Given the description of an element on the screen output the (x, y) to click on. 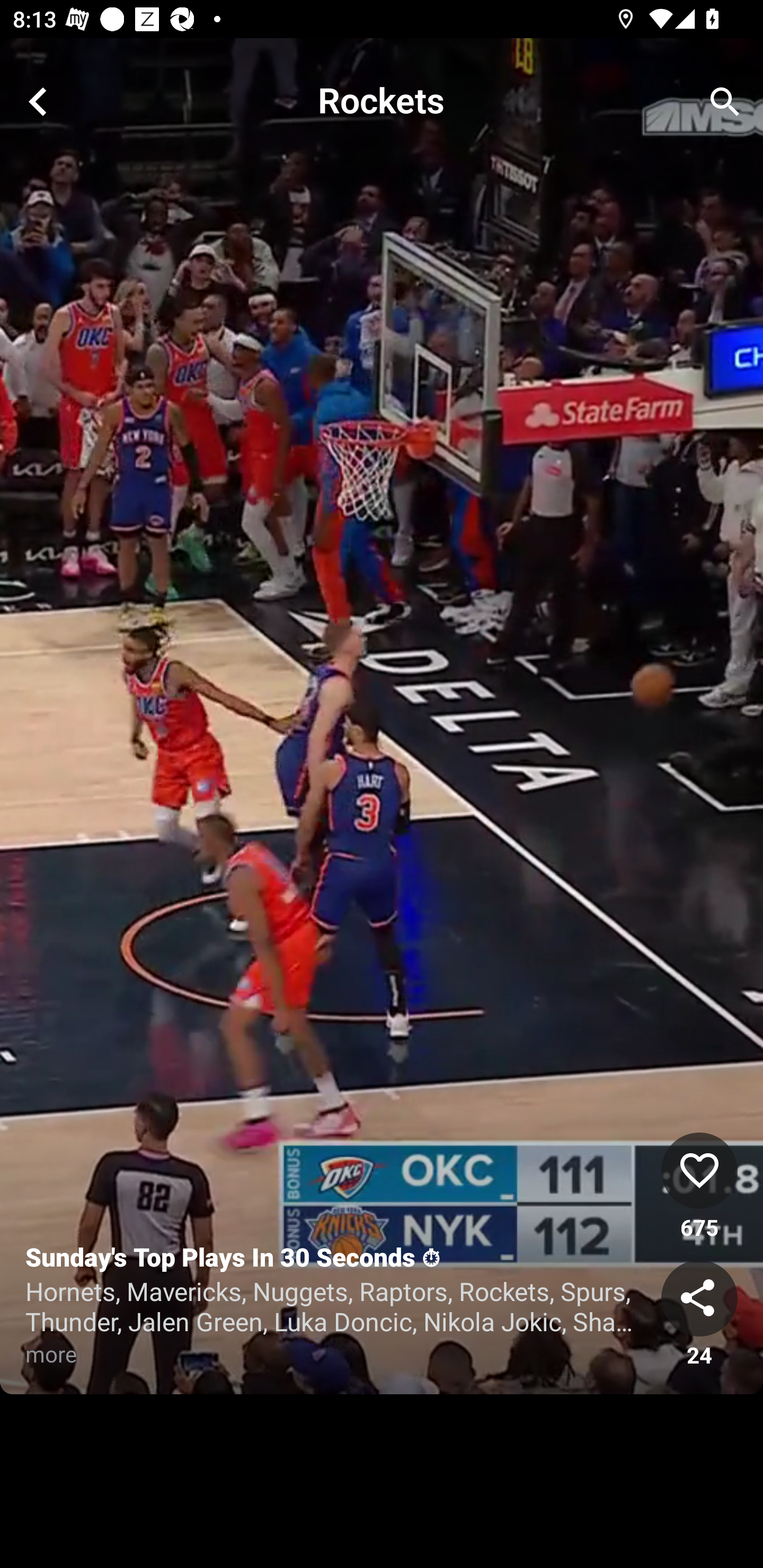
close (38, 101)
search (724, 101)
like 675 675 Likes (699, 1186)
share 24 24 Shares (699, 1314)
more (72, 1353)
